Given the description of an element on the screen output the (x, y) to click on. 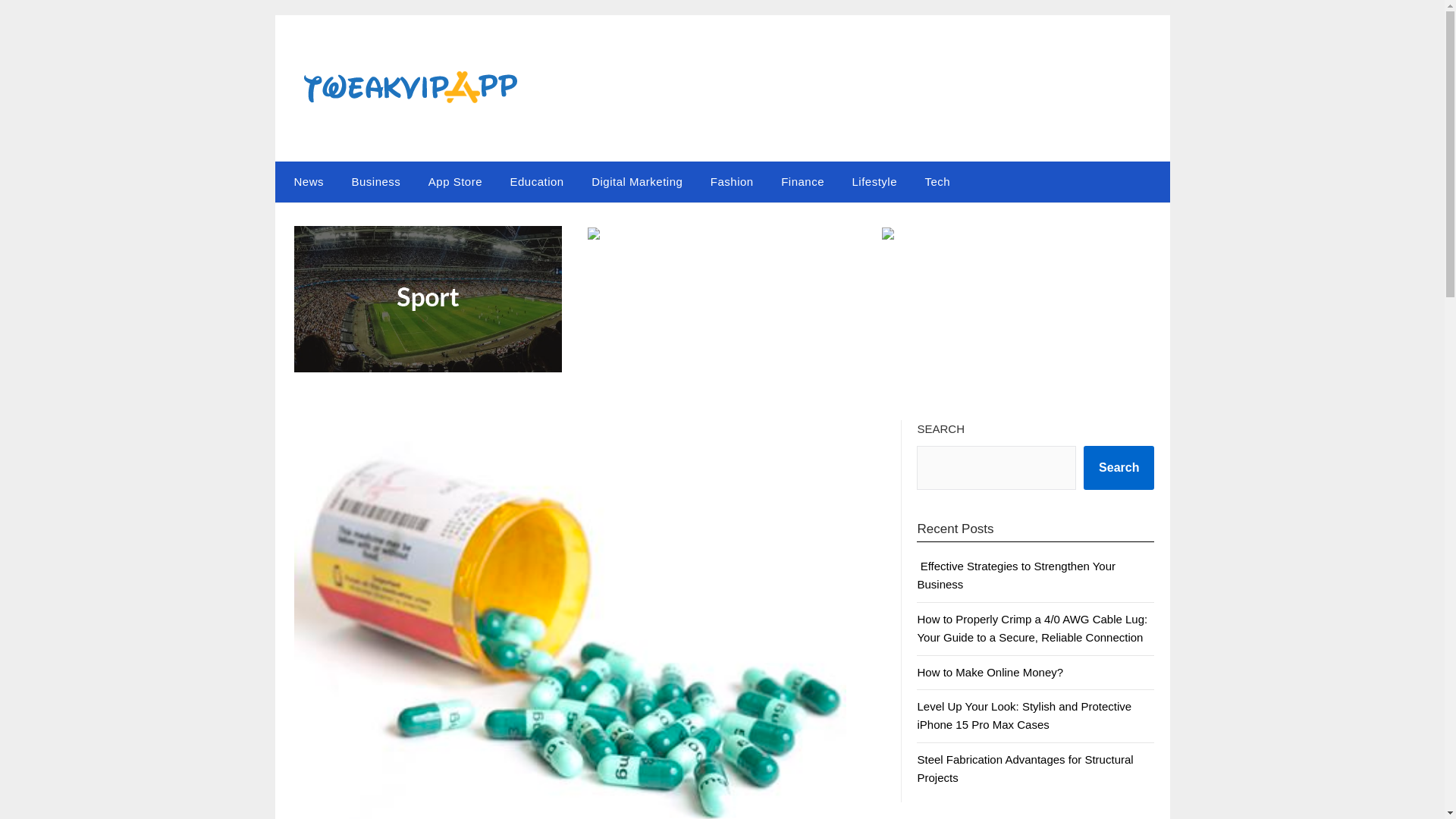
Education (536, 181)
Steel Fabrication Advantages for Structural Projects (1024, 767)
Digital Marketing (636, 181)
How to Make Online Money? (989, 671)
Business (375, 181)
News (305, 181)
Tech (937, 181)
Fashion (731, 181)
Lifestyle (874, 181)
Search (1118, 467)
